Given the description of an element on the screen output the (x, y) to click on. 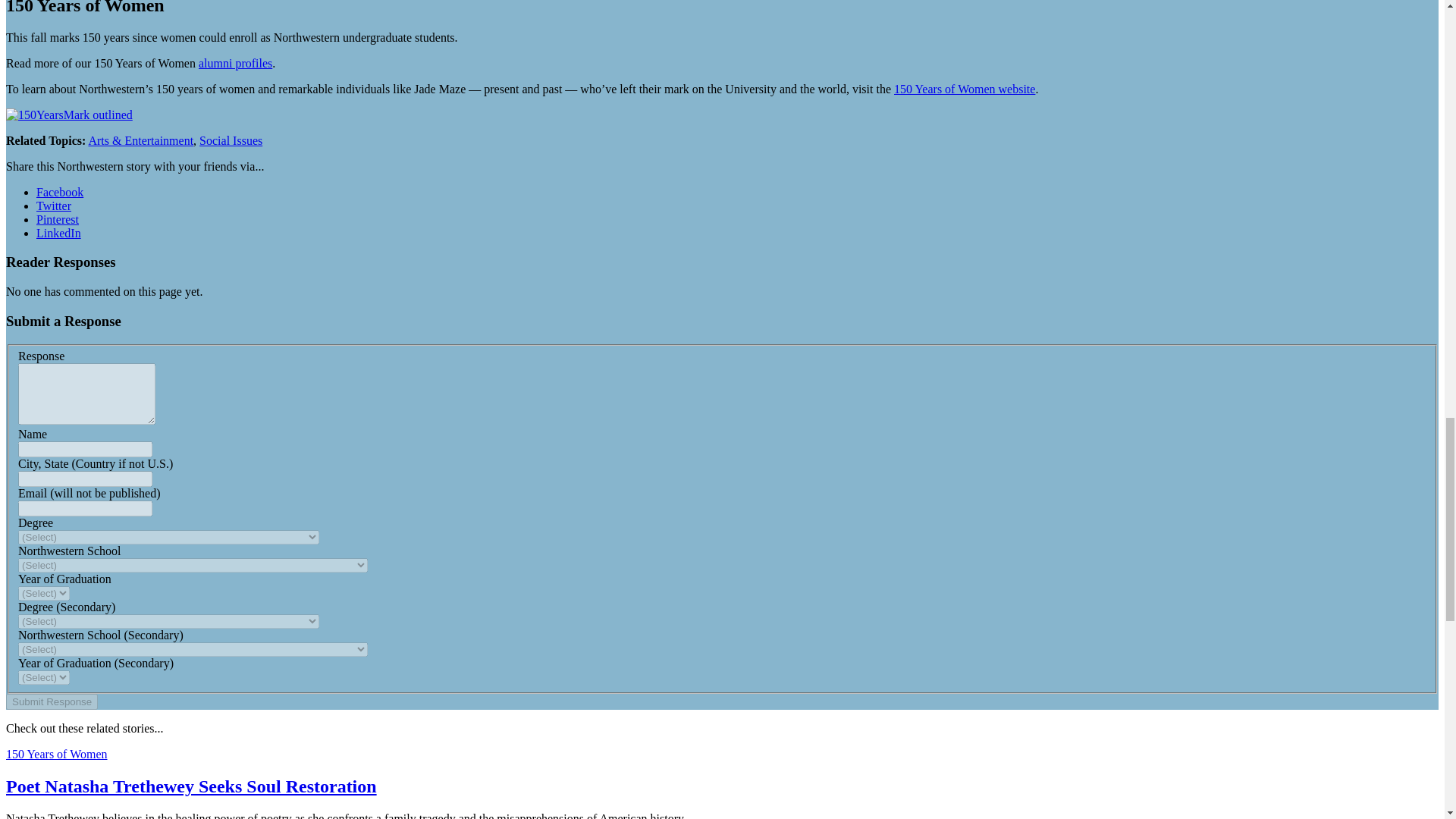
150YearsMark outlined (68, 114)
Submit Response (51, 701)
150YearsMark outlined (68, 115)
